Given the description of an element on the screen output the (x, y) to click on. 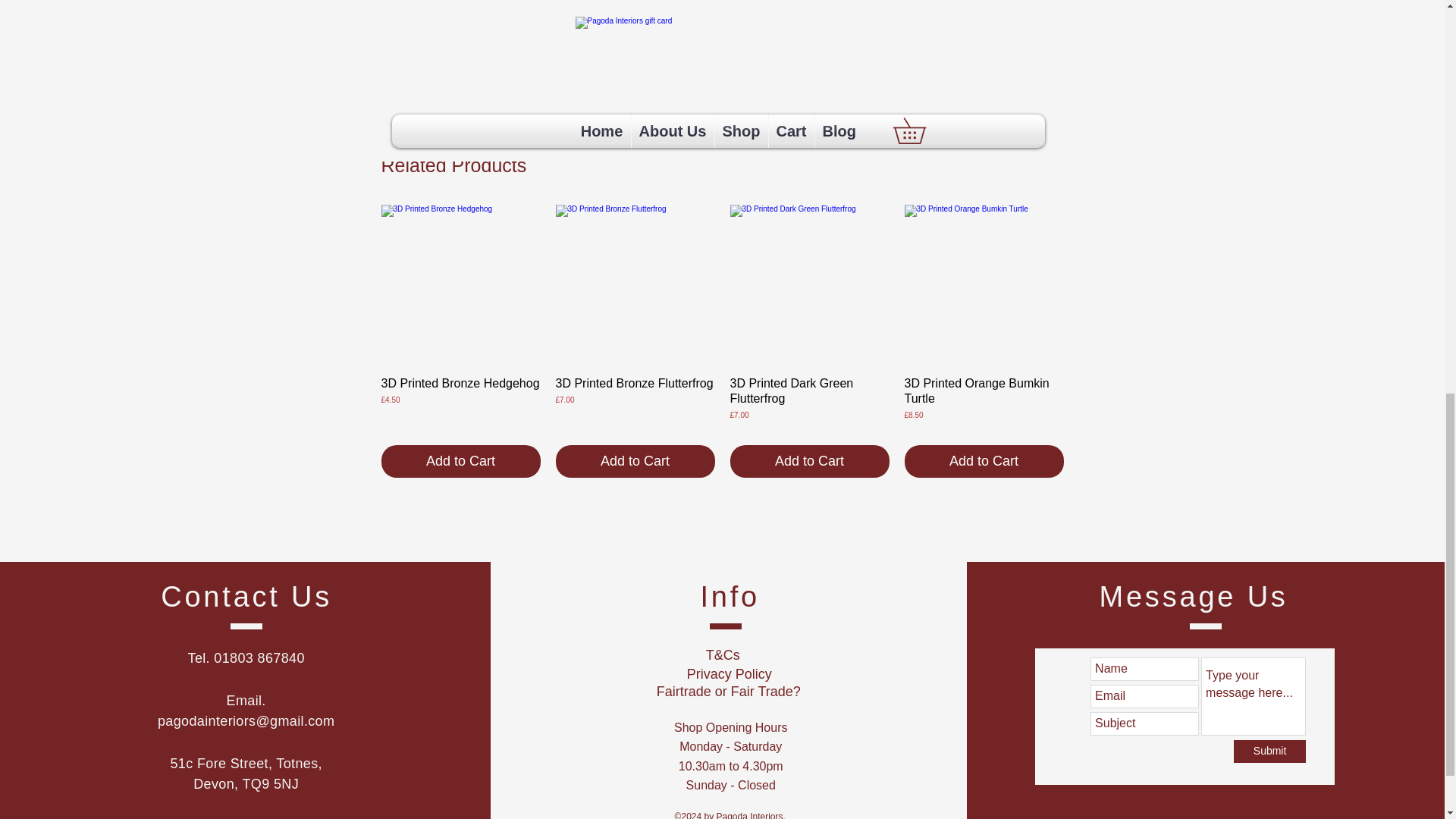
Add to Cart (634, 461)
Add to Cart (808, 461)
SUPPLIER INFORMATION (710, 123)
Add to Cart (983, 461)
DIMENSIONS (710, 69)
Add to Cart (460, 461)
